Given the description of an element on the screen output the (x, y) to click on. 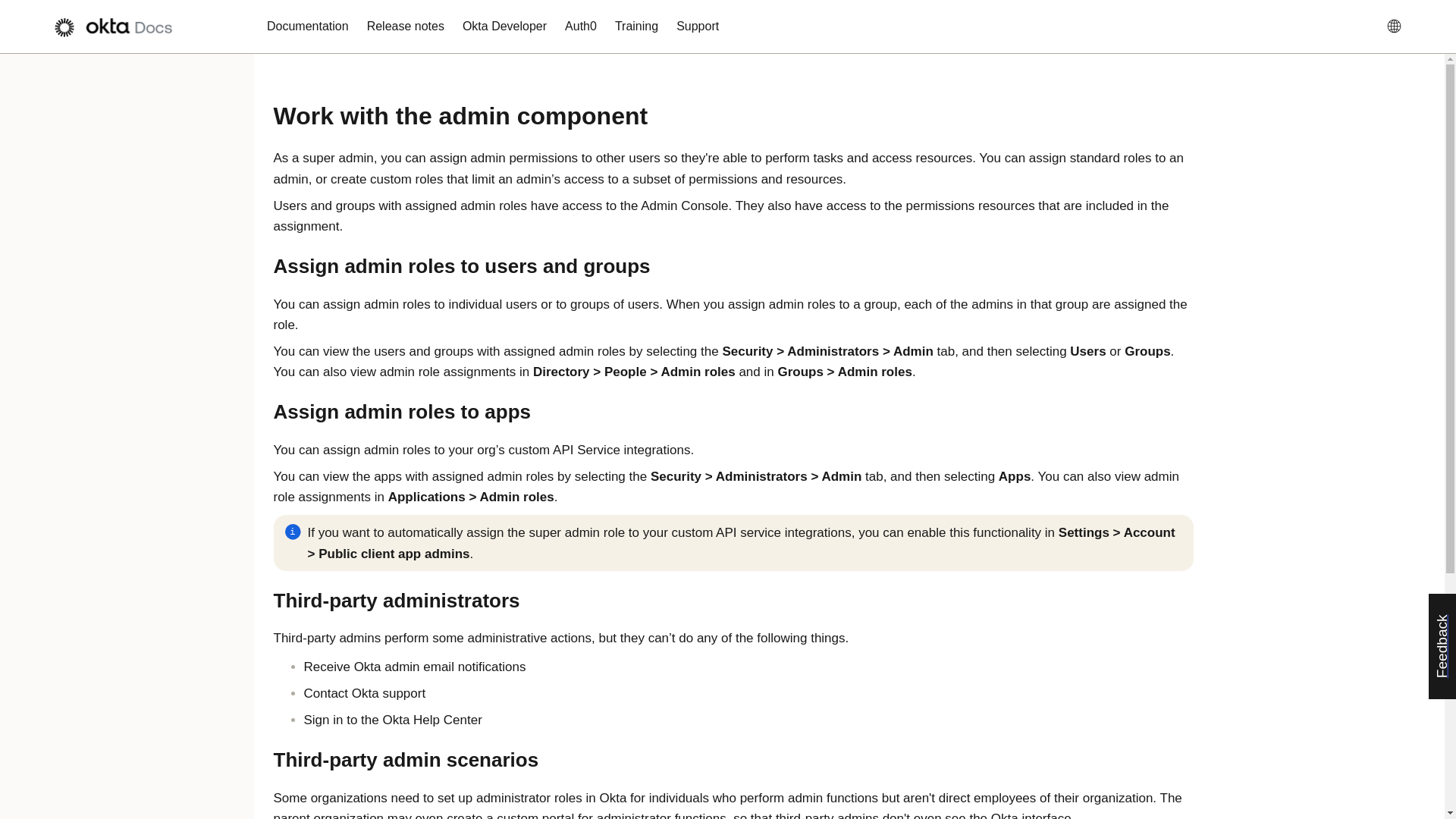
Okta Developer (504, 26)
Auth0 (580, 26)
Label: Okta Classic Engine content (1359, 27)
Training (635, 26)
Okta Docs (120, 27)
Change language (1398, 26)
Release notes (405, 26)
Support (697, 26)
Documentation (307, 26)
